Given the description of an element on the screen output the (x, y) to click on. 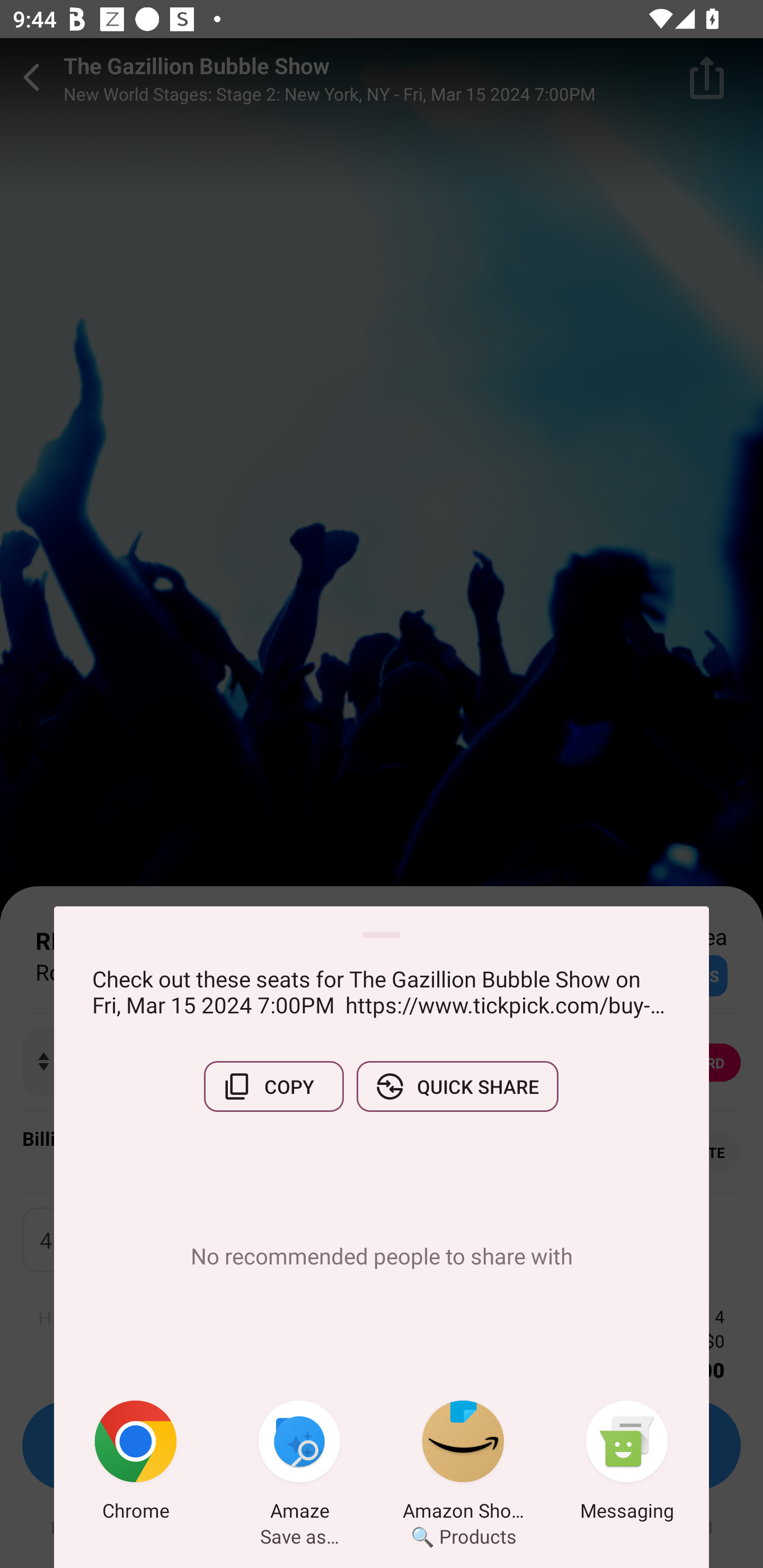
COPY (273, 1086)
QUICK SHARE (457, 1086)
Chrome (135, 1463)
Amaze Save as… (299, 1463)
Amazon Shopping 🔍 Products (463, 1463)
Messaging (626, 1463)
